Given the description of an element on the screen output the (x, y) to click on. 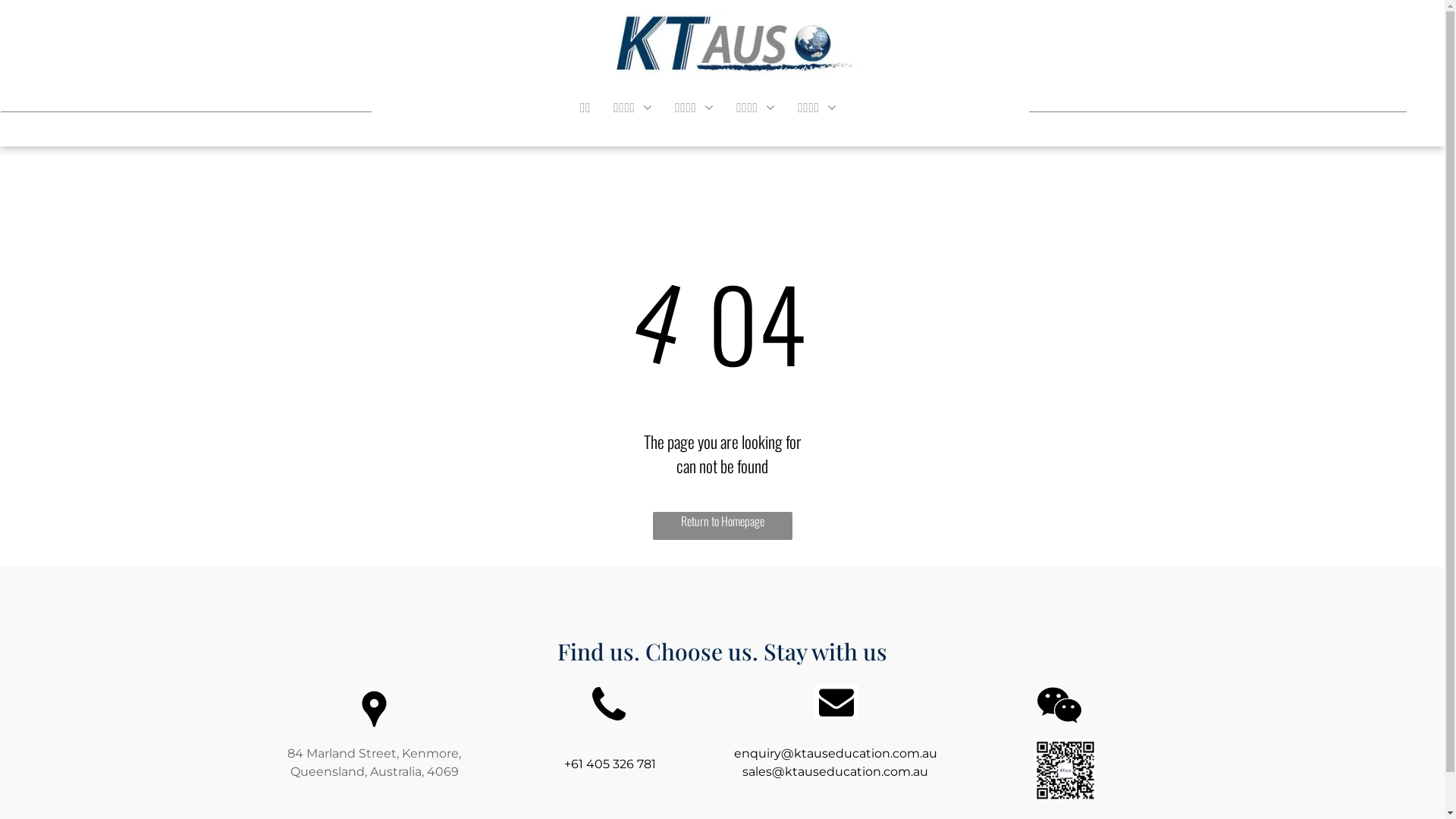
Return to Homepage Element type: text (721, 525)
